Given the description of an element on the screen output the (x, y) to click on. 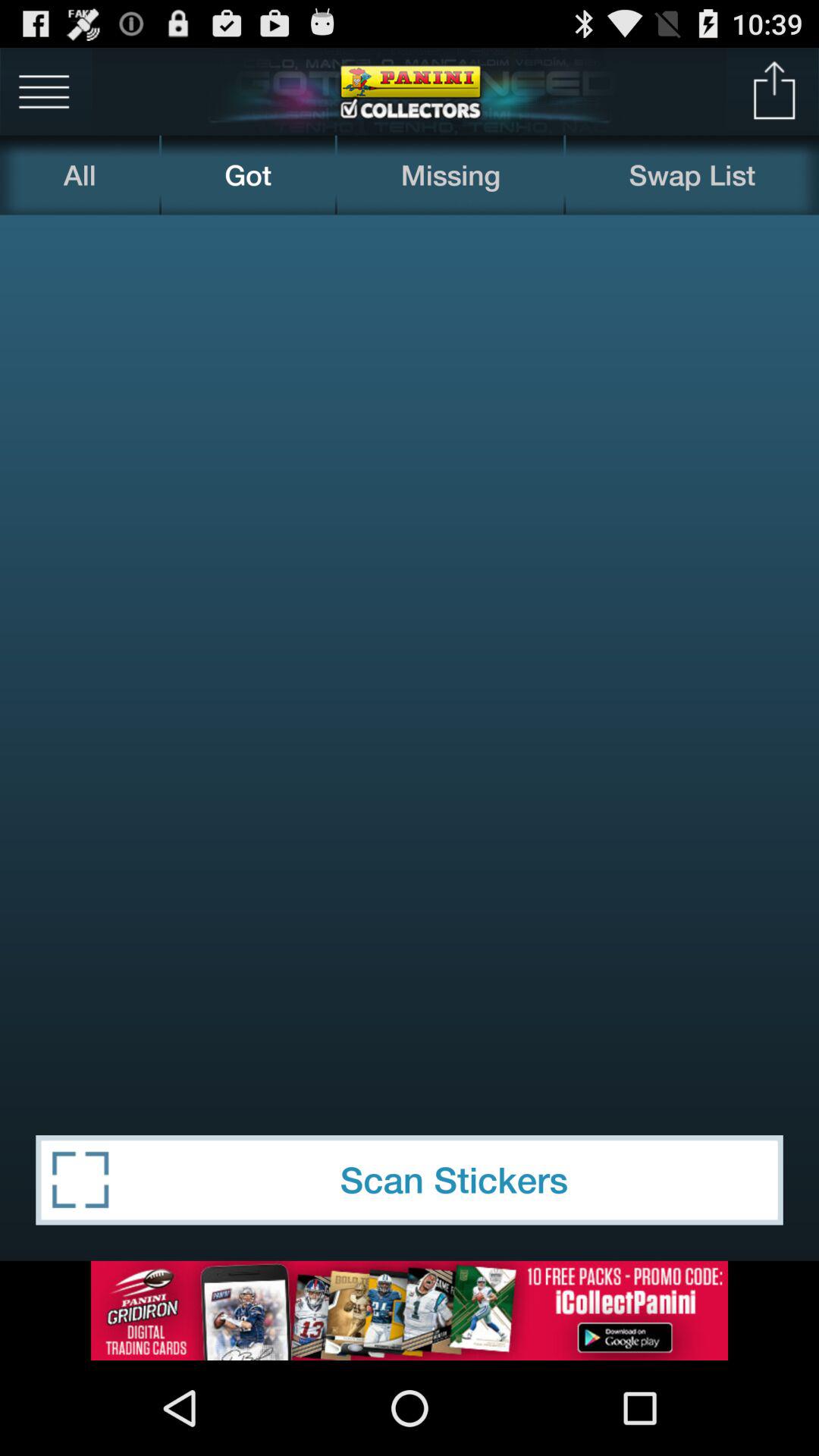
flip to the missing item (450, 174)
